Given the description of an element on the screen output the (x, y) to click on. 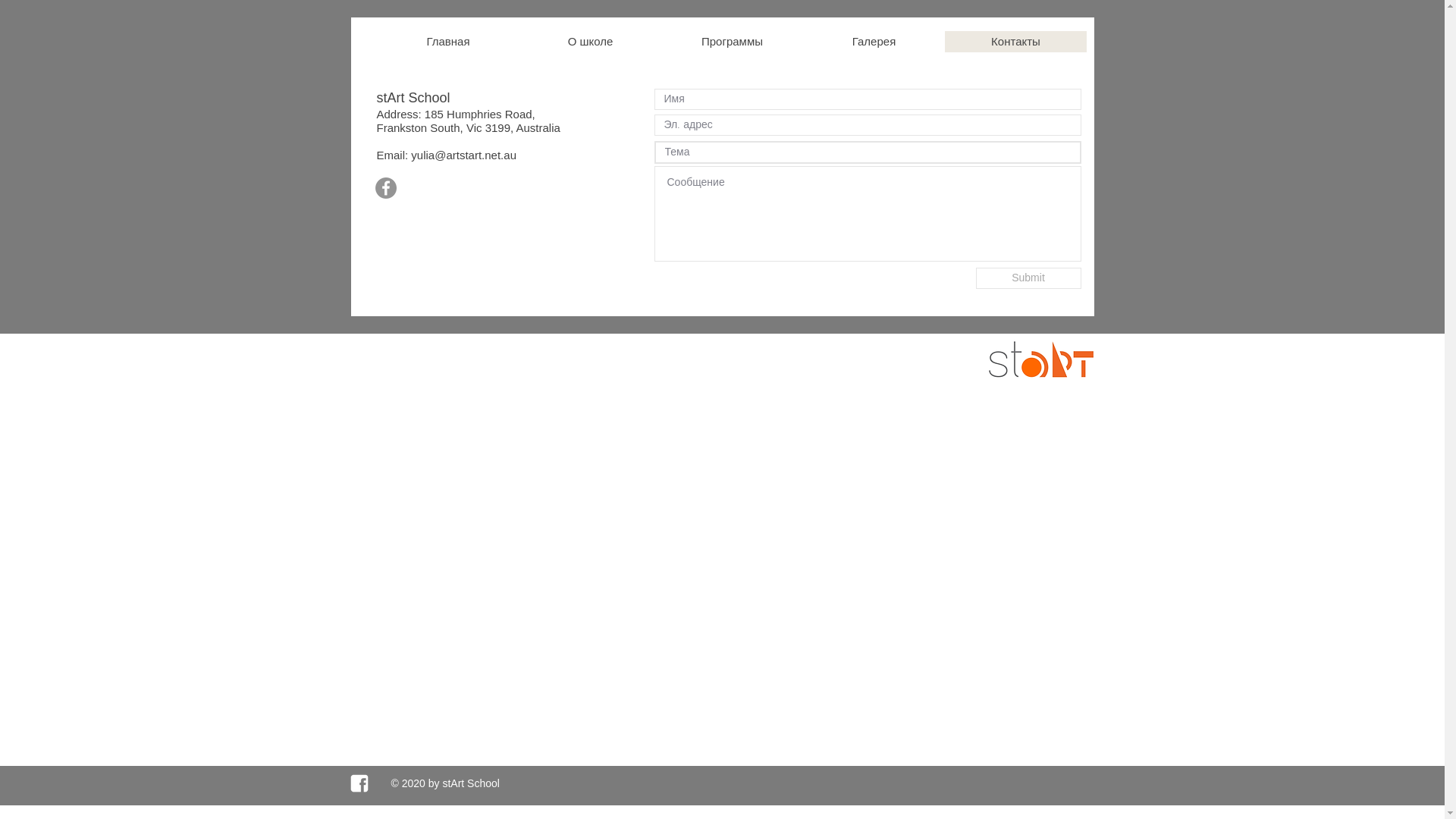
Submit Element type: text (1027, 277)
yulia@artstart.net.au Element type: text (463, 154)
